Given the description of an element on the screen output the (x, y) to click on. 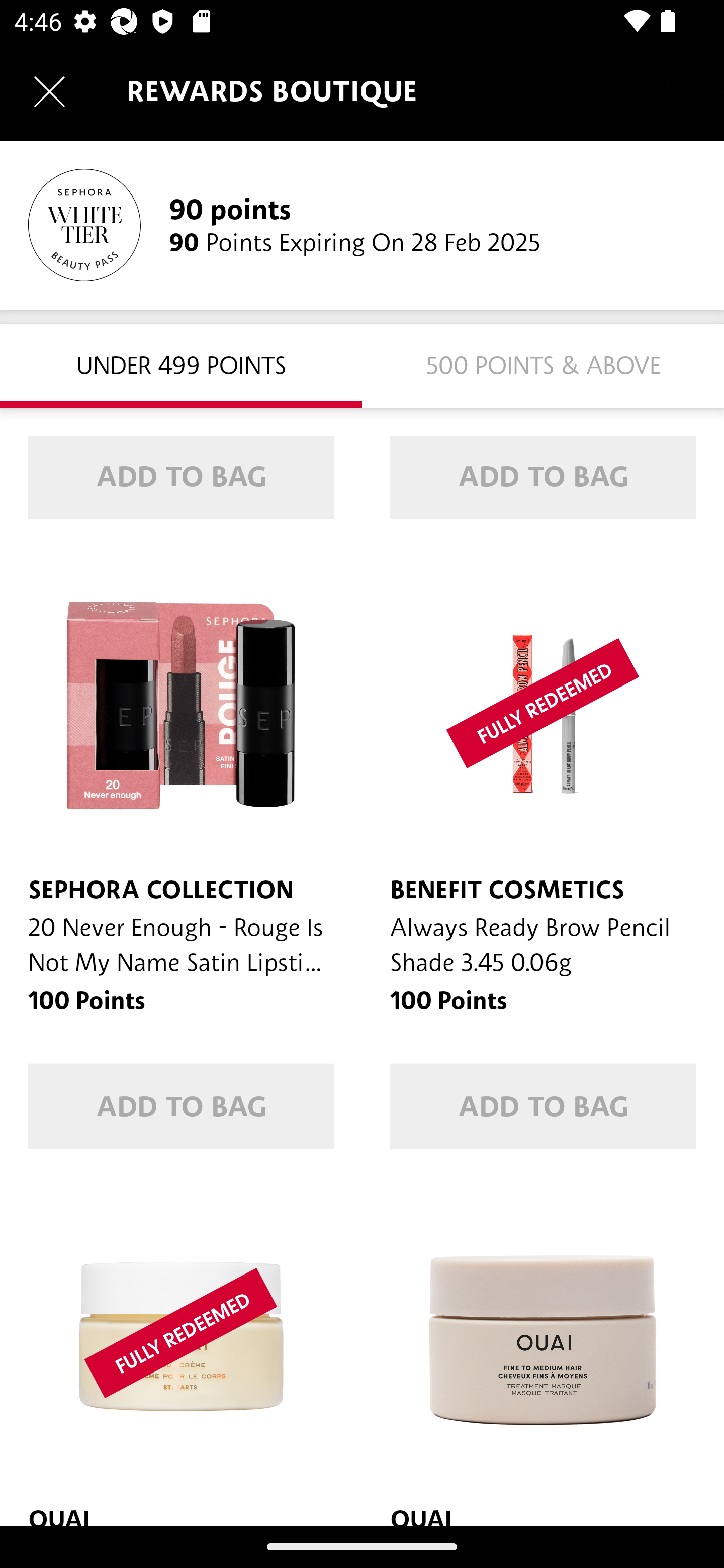
Navigate up (49, 91)
500 Points & Above 500 POINTS & ABOVE (543, 365)
ADD TO BAG (180, 477)
ADD TO BAG (542, 477)
ADD TO BAG (180, 1106)
ADD TO BAG (542, 1106)
OUAI (181, 1351)
OUAI (543, 1351)
